Given the description of an element on the screen output the (x, y) to click on. 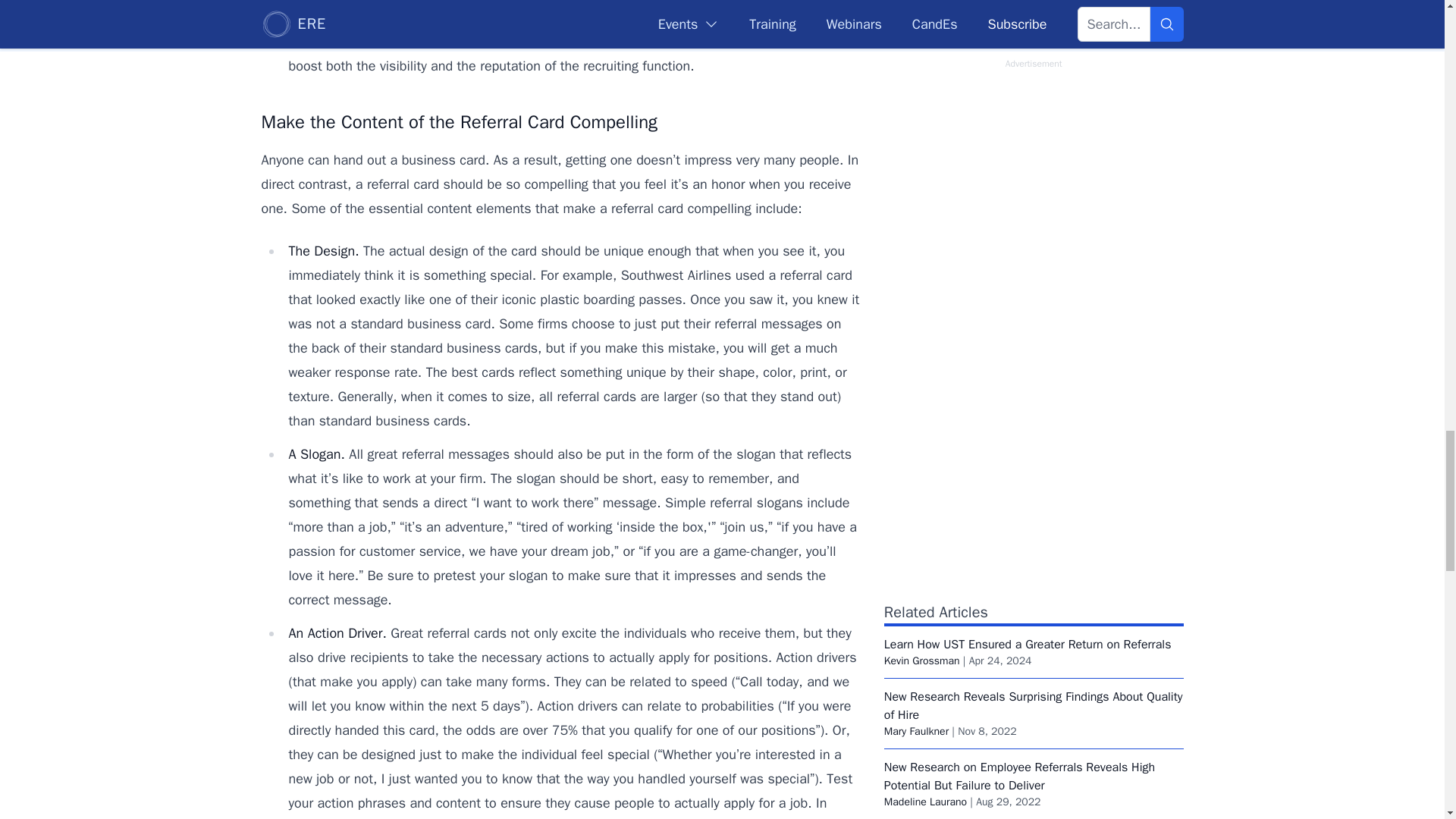
Mary Faulkner (916, 730)
Madeline Laurano (924, 801)
Learn How UST Ensured a Greater Return on Referrals (1027, 644)
Kevin Grossman (921, 660)
